Given the description of an element on the screen output the (x, y) to click on. 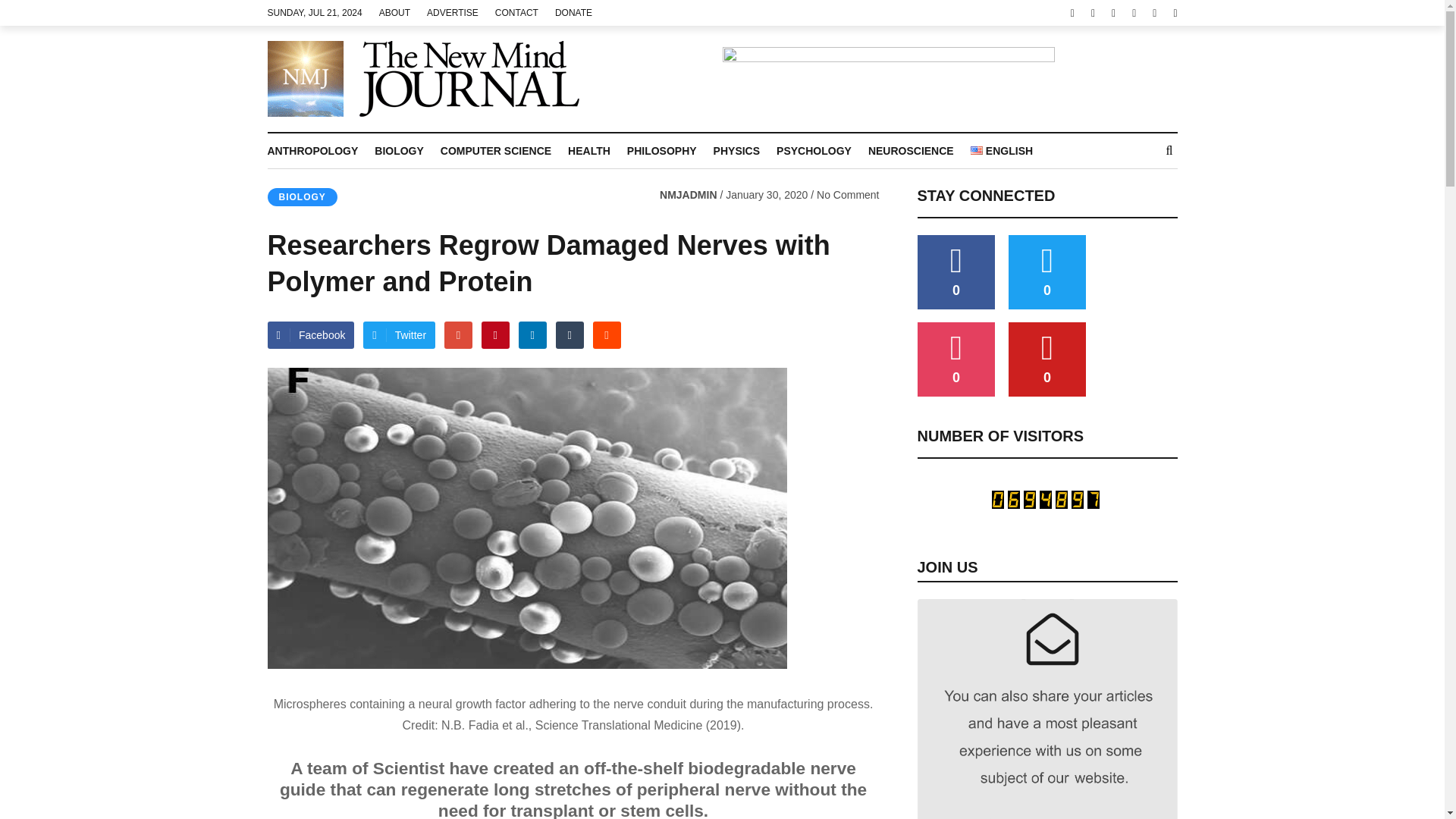
ABOUT (888, 78)
CONTACT (402, 12)
DONATE (524, 12)
ADVERTISE (581, 12)
ANTHROPOLOGY (460, 12)
BIOLOGY (320, 150)
